Given the description of an element on the screen output the (x, y) to click on. 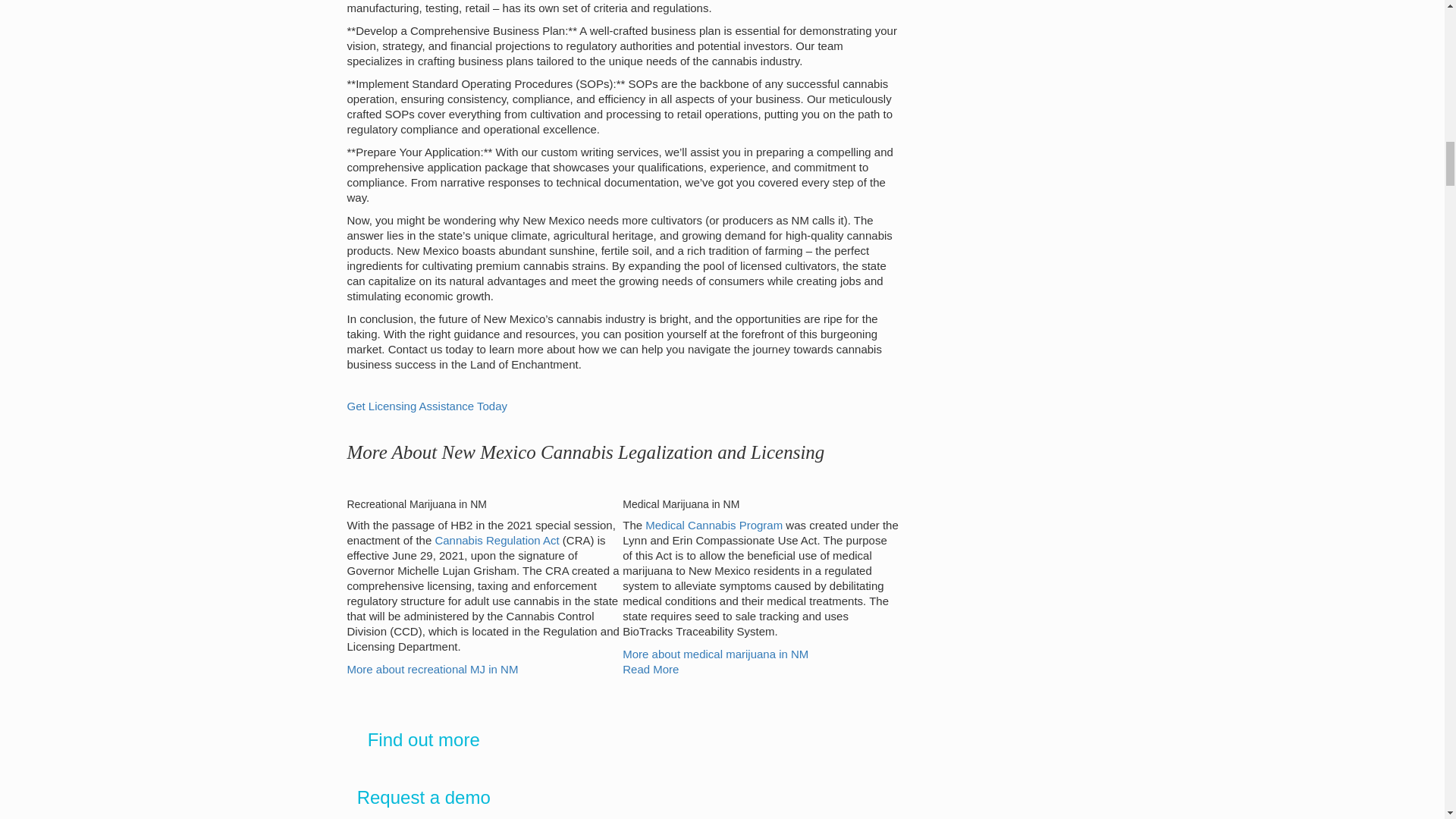
Request a demo (423, 797)
Read More (650, 668)
Get Licensing Assistance Today (427, 405)
Medical Cannabis Program (714, 524)
More about recreational MJ in NM (432, 668)
Cannabis Regulation Act (496, 540)
Find out more (424, 739)
More about medical marijuana in NM (715, 653)
